Given the description of an element on the screen output the (x, y) to click on. 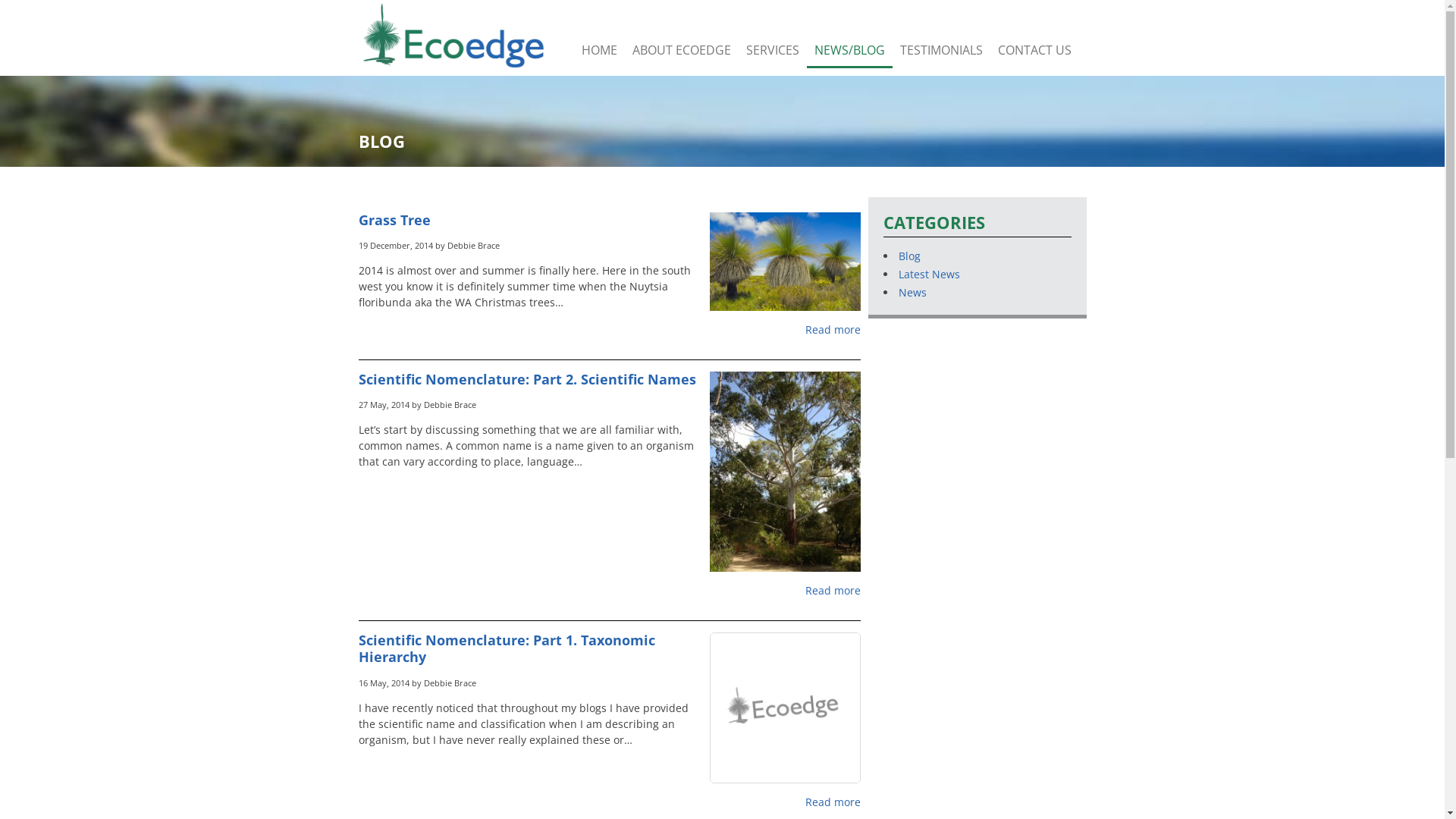
Read more Element type: text (608, 329)
Ecoedge Element type: hover (452, 37)
SERVICES Element type: text (772, 51)
ABOUT ECOEDGE Element type: text (681, 51)
HOME Element type: text (598, 51)
Blog Element type: text (908, 255)
Scientific Nomenclature: Part 2. Scientific Names Element type: text (526, 379)
Scientific Nomenclature: Part 1. Taxonomic Hierarchy Element type: text (505, 647)
TESTIMONIALS Element type: text (940, 51)
CONTACT US Element type: text (1034, 51)
Grass Tree Element type: text (393, 219)
Read more Element type: text (608, 590)
NEWS/BLOG Element type: text (849, 51)
Read more Element type: text (608, 801)
Latest News Element type: text (928, 273)
News Element type: text (911, 292)
